Given the description of an element on the screen output the (x, y) to click on. 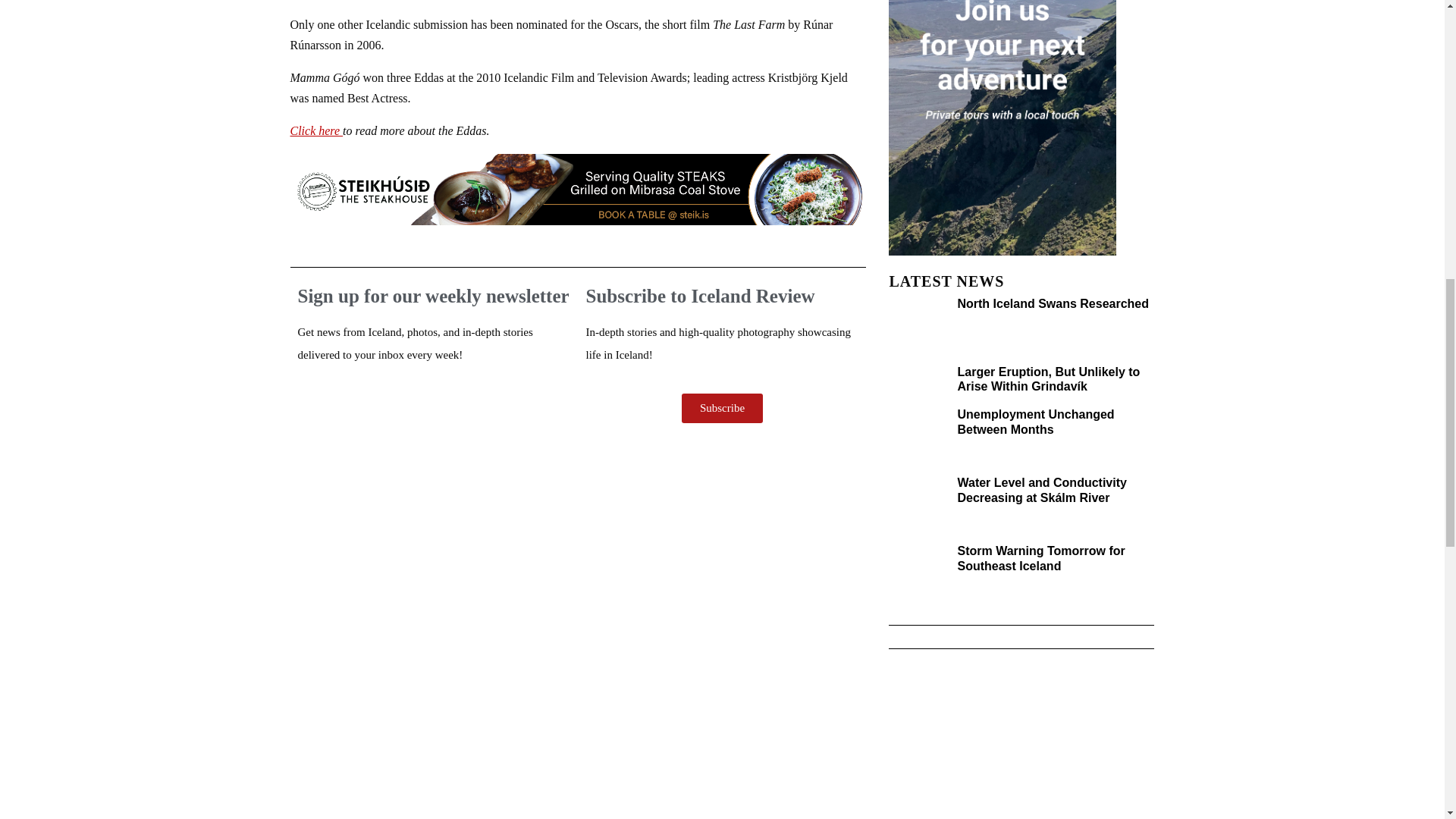
Storm Warning Tomorrow for Southeast Iceland (1040, 557)
Unemployment Unchanged Between Months (1034, 420)
North Iceland Swans Researched (1052, 303)
